Given the description of an element on the screen output the (x, y) to click on. 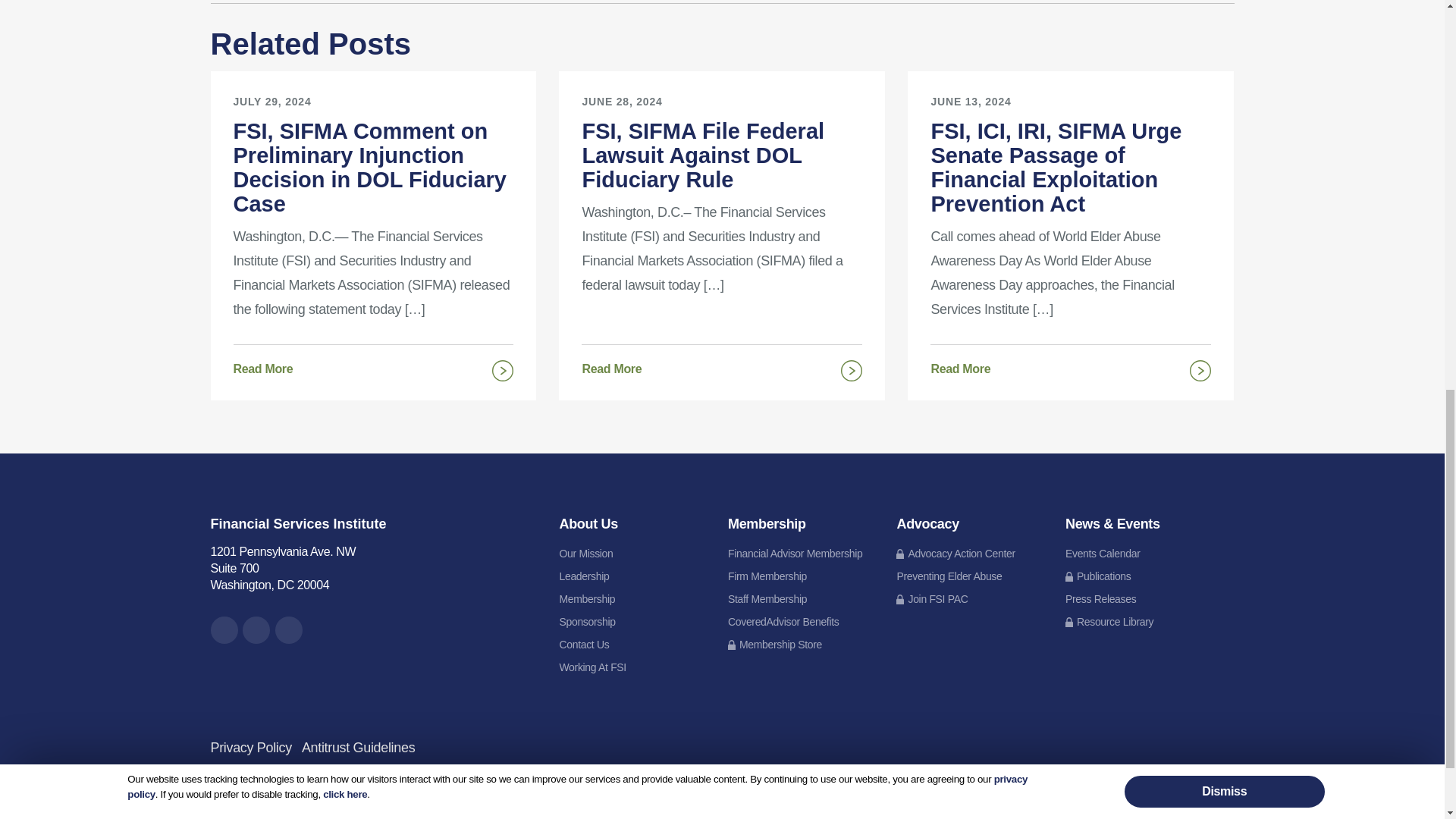
Read Article (1070, 366)
Read Article (372, 218)
Read Article (720, 366)
Read Article (1070, 218)
Read Article (372, 366)
Read Article (720, 213)
